Given the description of an element on the screen output the (x, y) to click on. 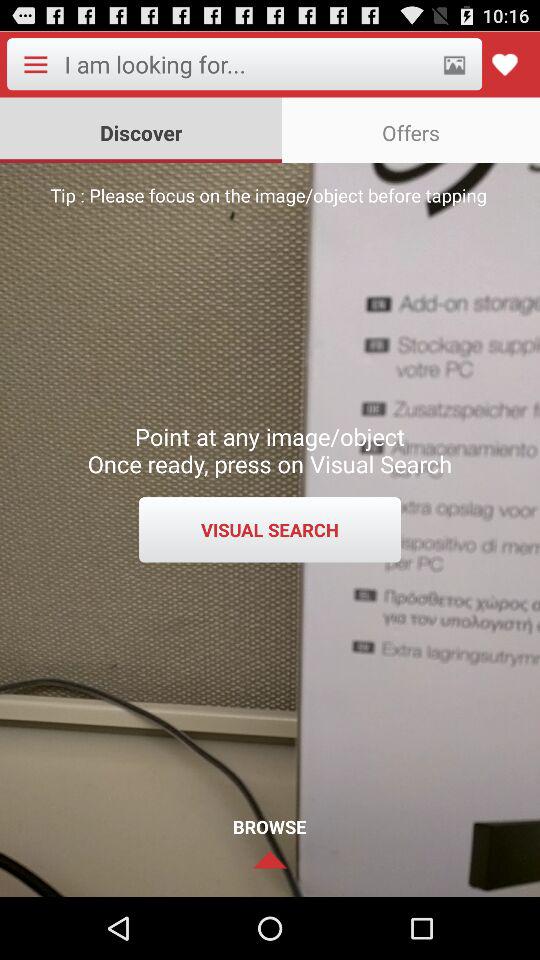
click the heart icon below the notification bar (504, 64)
click on the up scroll (269, 860)
